Given the description of an element on the screen output the (x, y) to click on. 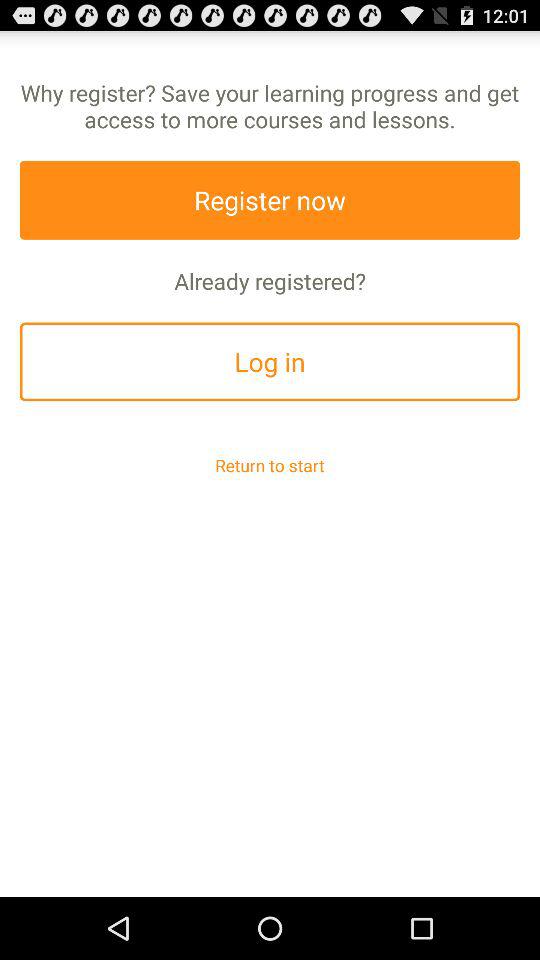
press app below log in item (269, 464)
